Given the description of an element on the screen output the (x, y) to click on. 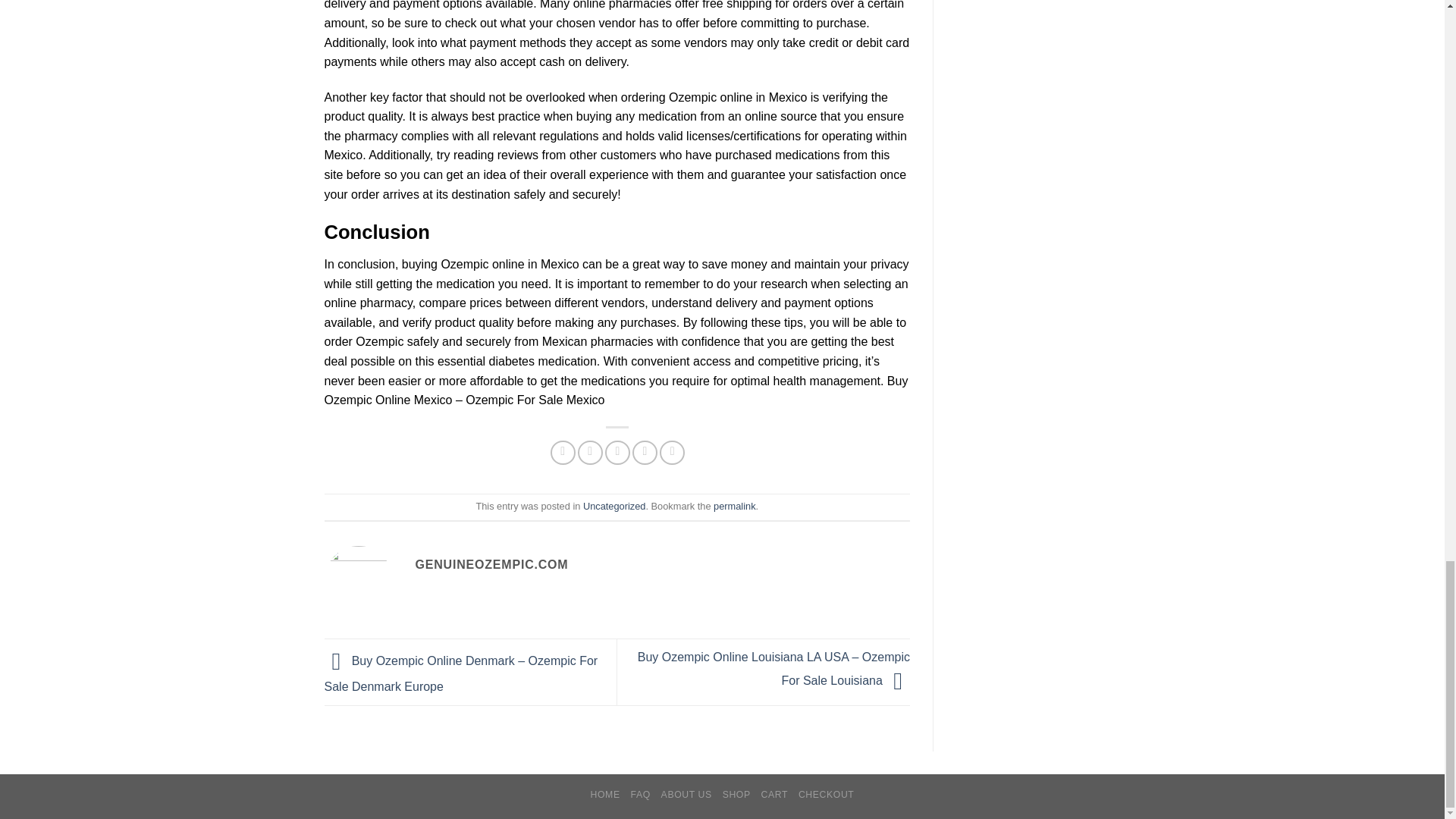
SHOP (736, 794)
HOME (605, 794)
CHECKOUT (825, 794)
permalink (734, 505)
Uncategorized (614, 505)
ABOUT US (686, 794)
FAQ (640, 794)
CART (775, 794)
